Given the description of an element on the screen output the (x, y) to click on. 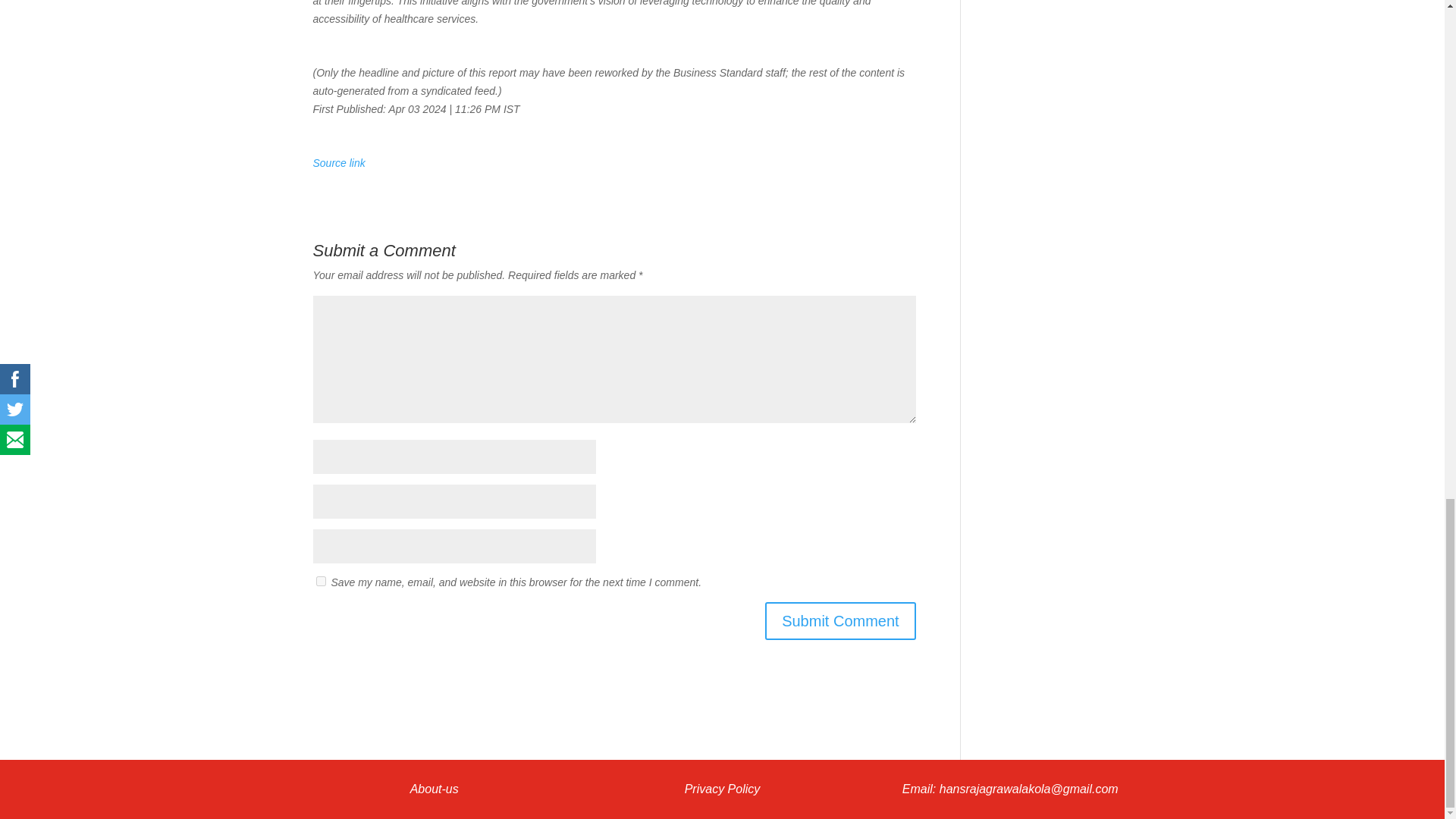
Submit Comment (840, 620)
yes (319, 581)
